Given the description of an element on the screen output the (x, y) to click on. 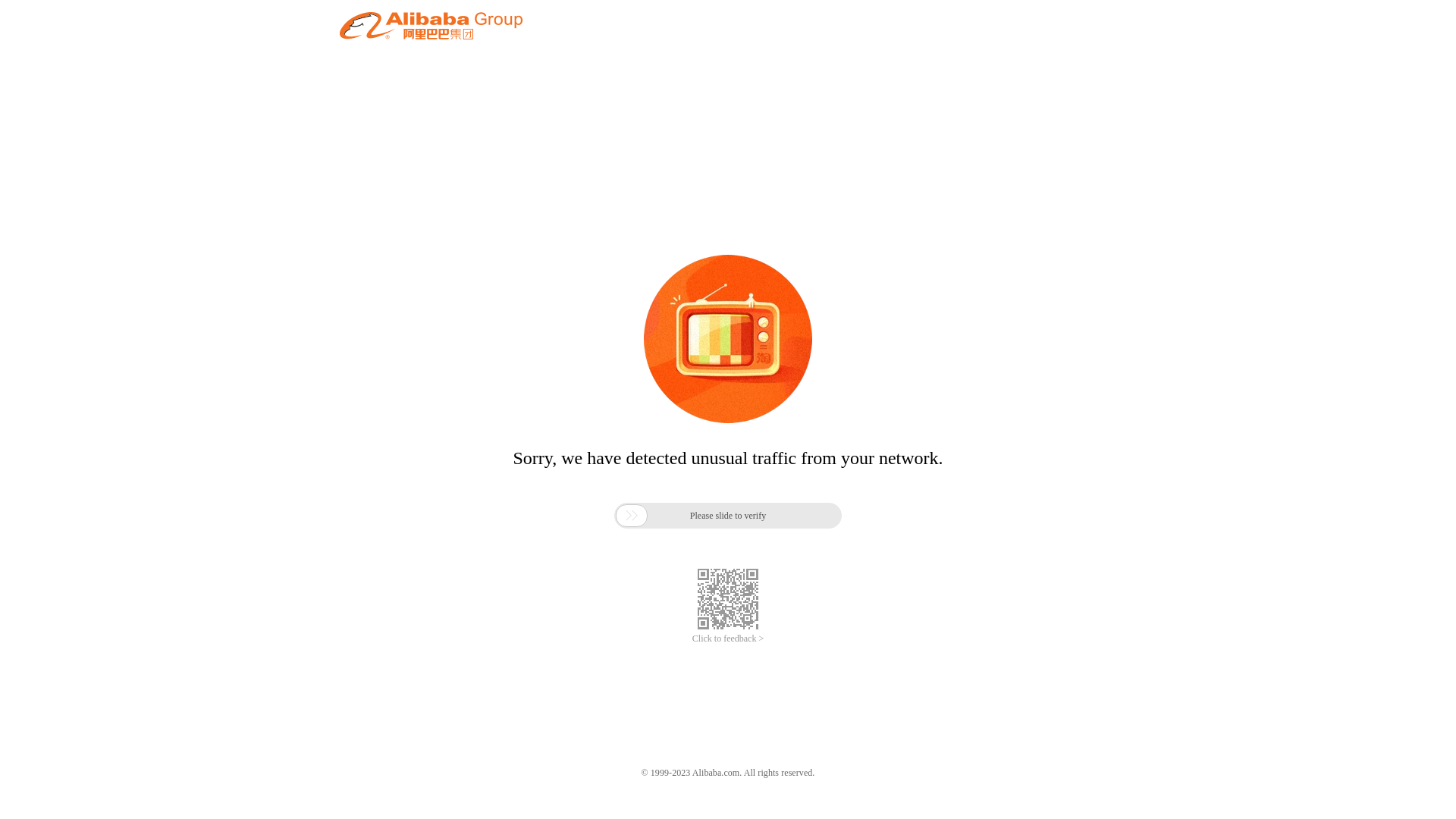
Click to feedback > Element type: text (727, 638)
